Given the description of an element on the screen output the (x, y) to click on. 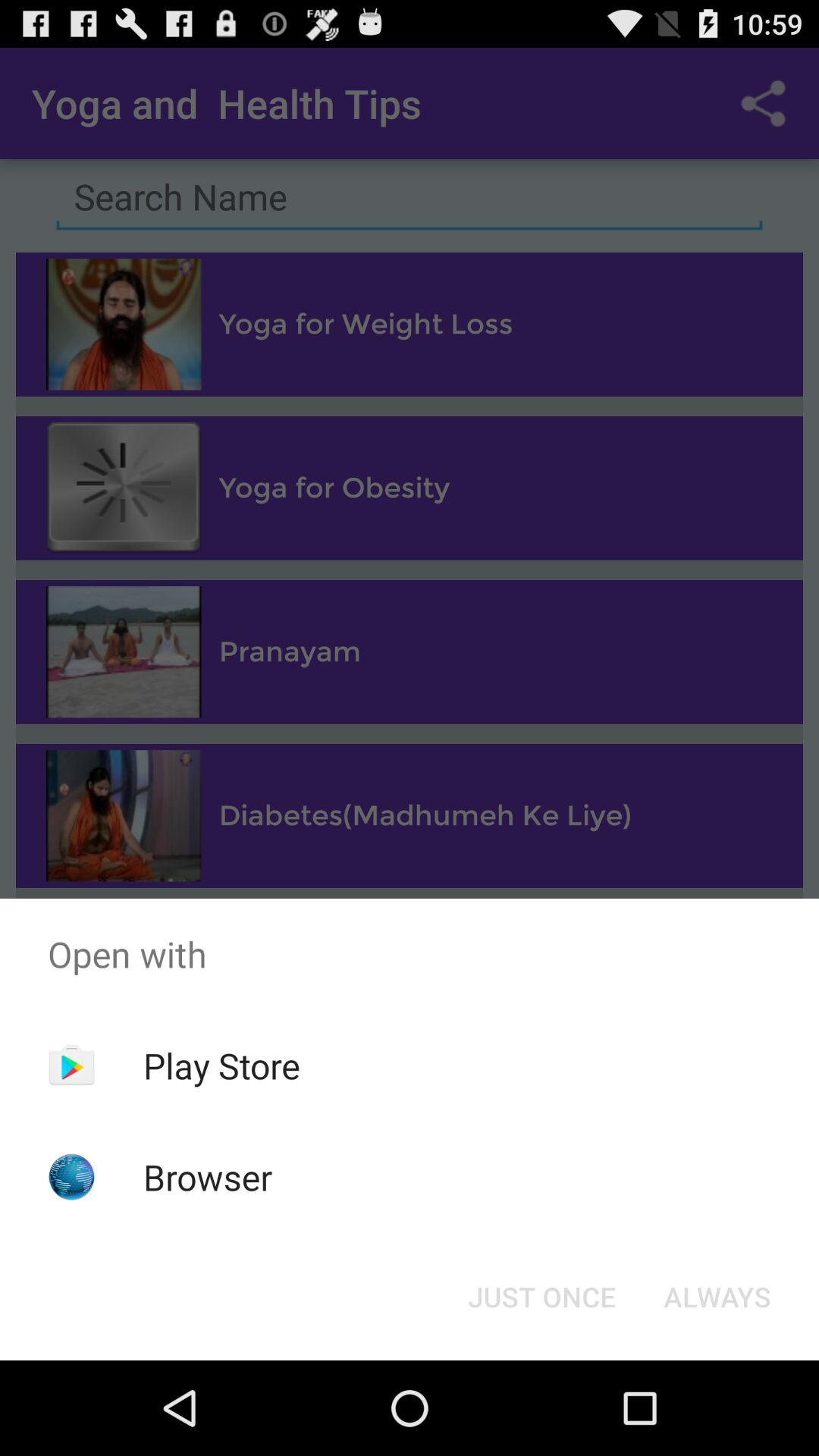
swipe until always button (717, 1296)
